Given the description of an element on the screen output the (x, y) to click on. 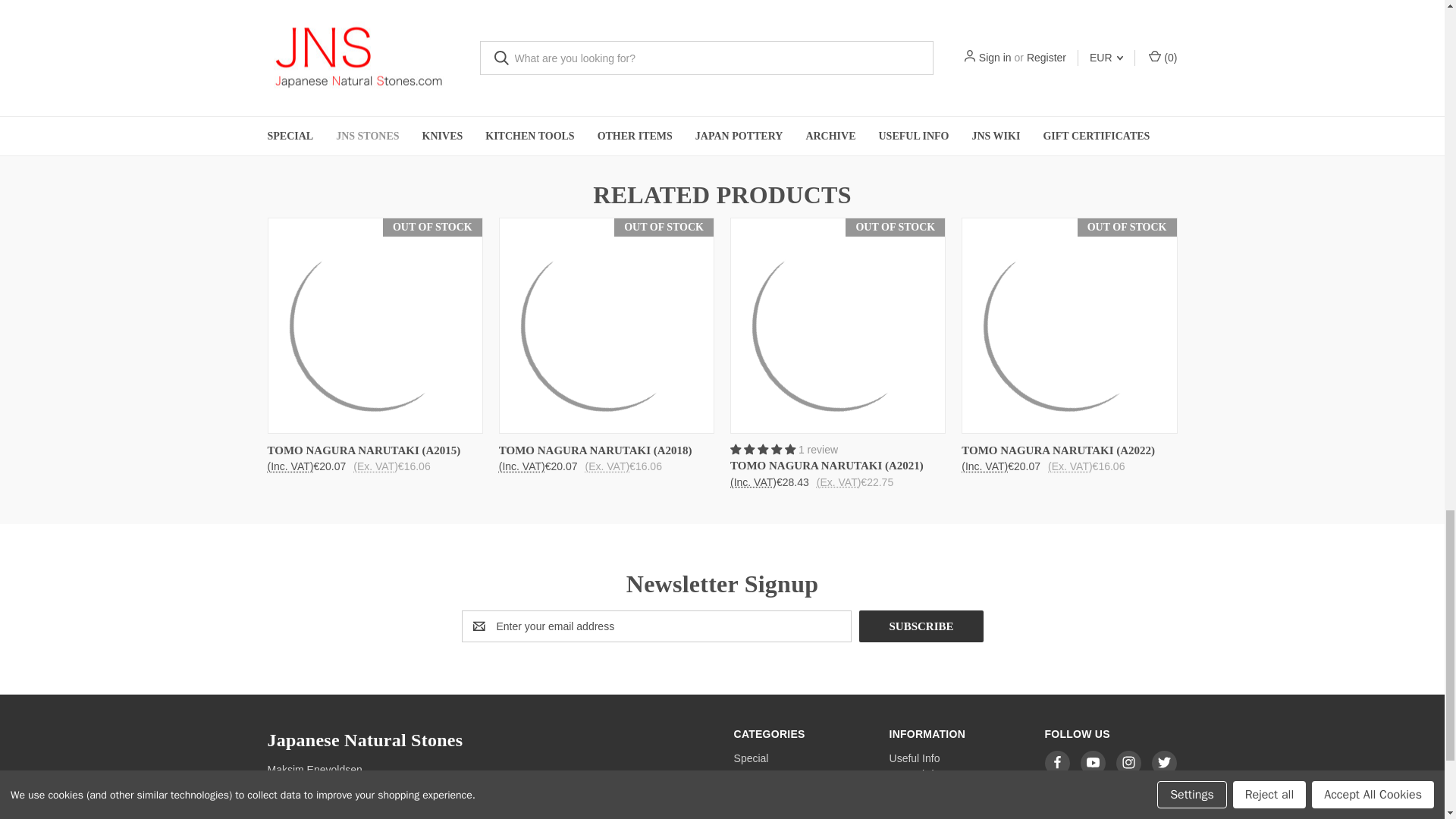
Subscribe (920, 626)
